Given the description of an element on the screen output the (x, y) to click on. 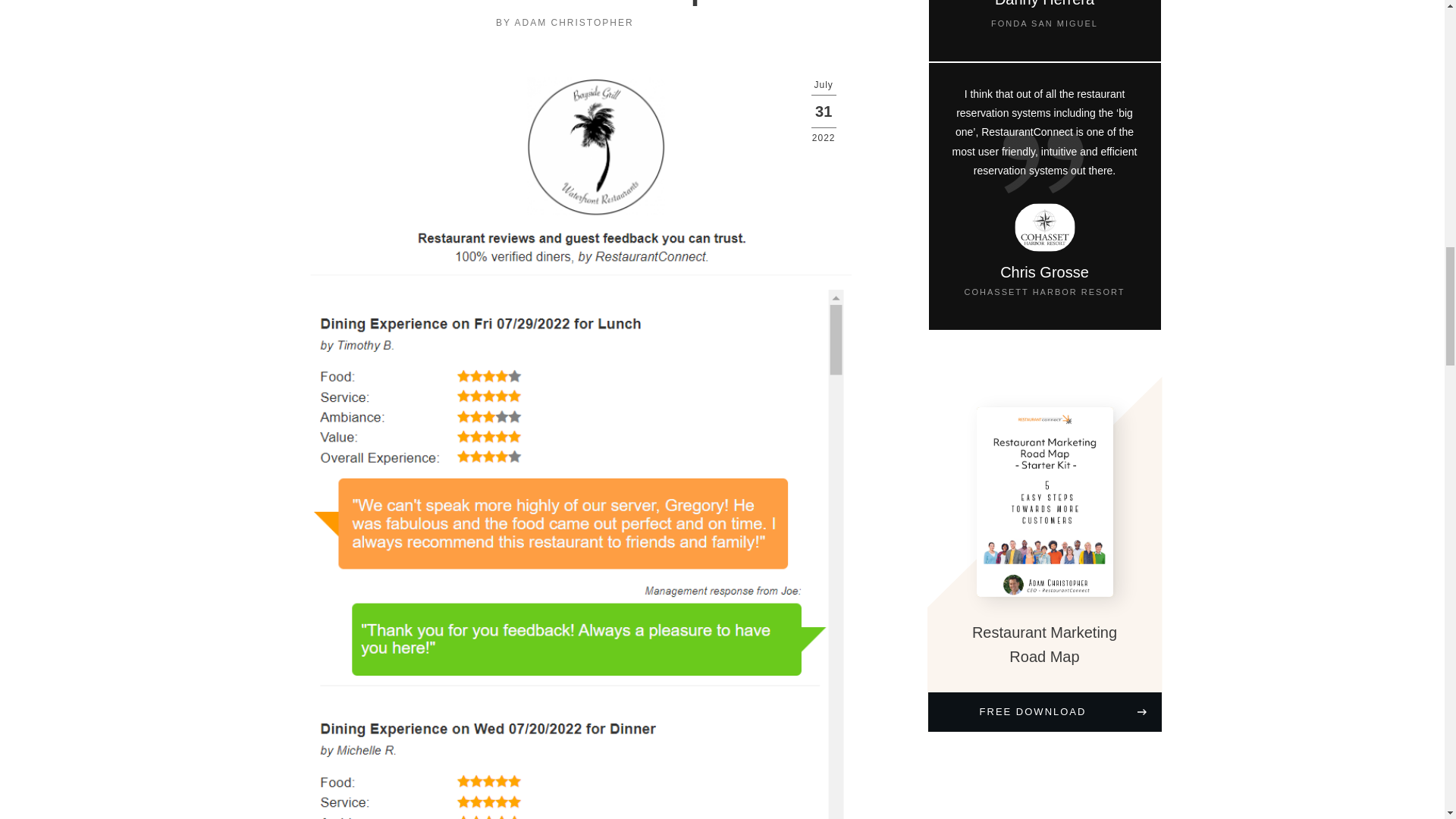
2022 (823, 137)
Adam Christopher (573, 22)
Feedback Feed Sample (565, 2)
July (822, 84)
Feedback Feed Sample (565, 2)
31 (823, 111)
ADAM CHRISTOPHER (573, 22)
